Given the description of an element on the screen output the (x, y) to click on. 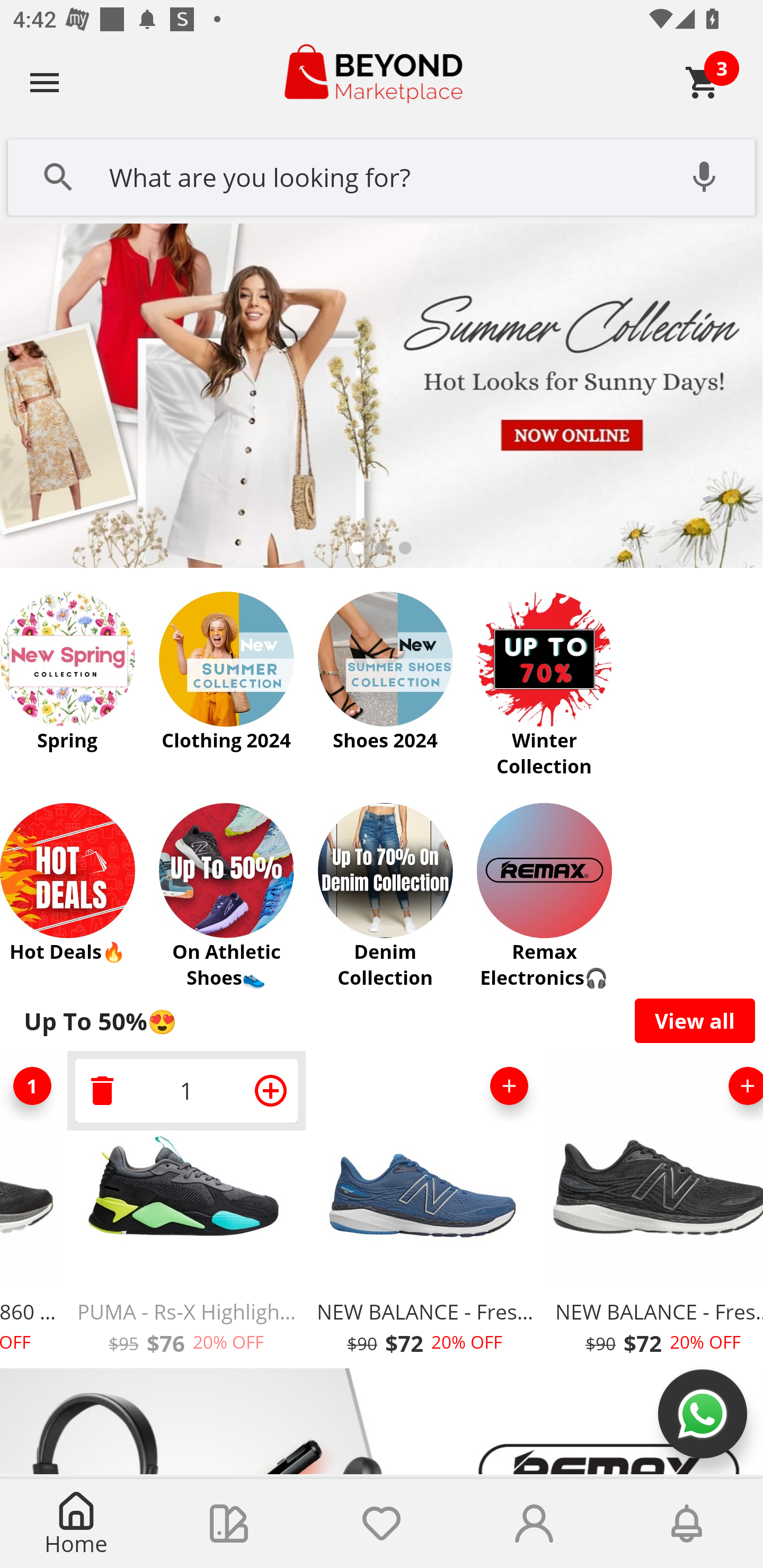
Navigate up (44, 82)
What are you looking for? (381, 175)
View all (694, 1020)
1 (33, 1085)
1 (186, 1090)
Collections (228, 1523)
Wishlist (381, 1523)
Account (533, 1523)
Notifications (686, 1523)
